Given the description of an element on the screen output the (x, y) to click on. 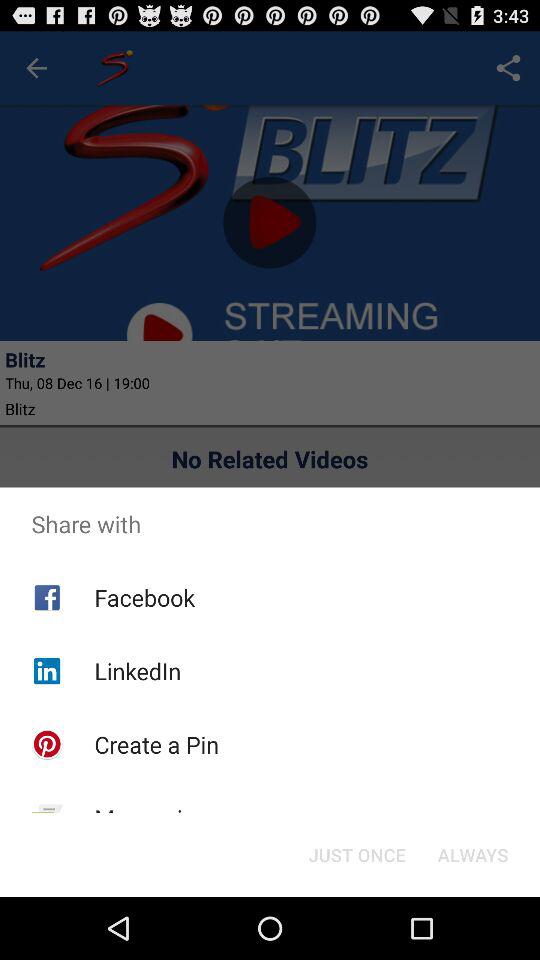
jump until create a pin (156, 744)
